Given the description of an element on the screen output the (x, y) to click on. 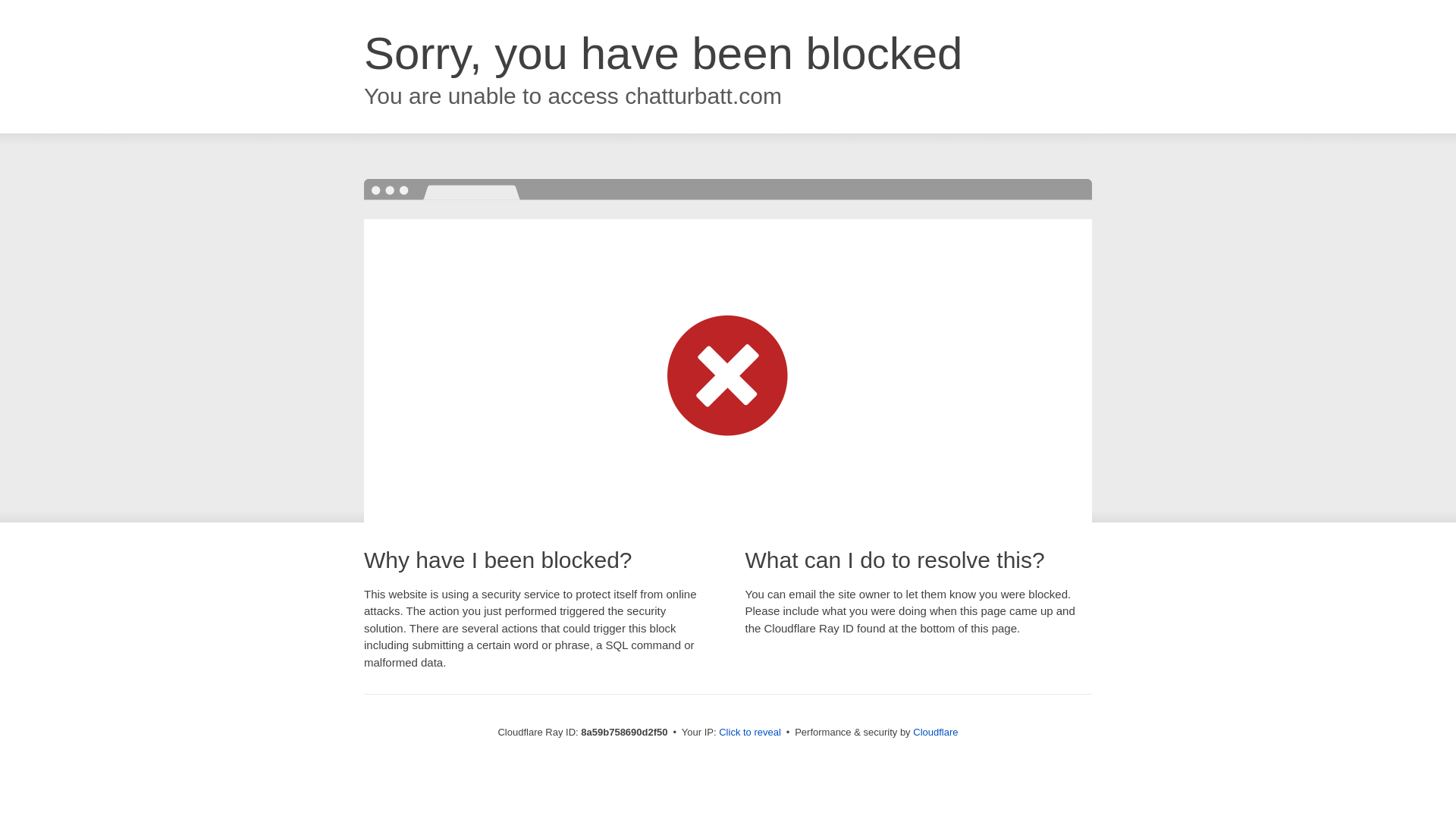
Click to reveal (749, 732)
Cloudflare (935, 731)
